Given the description of an element on the screen output the (x, y) to click on. 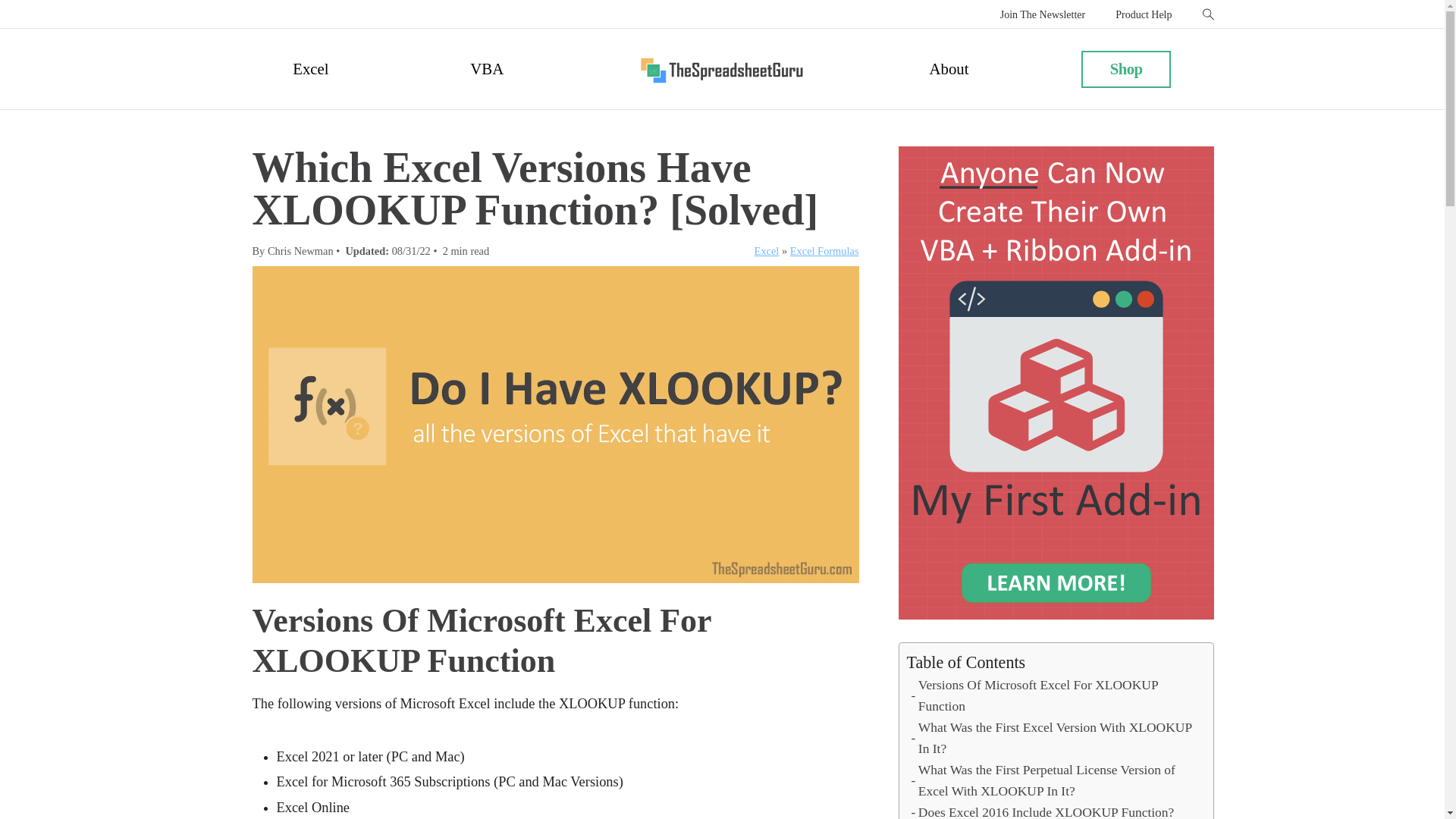
Product Help (1143, 14)
Excel (310, 67)
Join The Newsletter (1043, 14)
Versions Of Microsoft Excel For XLOOKUP Function (1054, 695)
What Was the First Excel Version With XLOOKUP In It? (1054, 738)
Shop (1126, 68)
Does Excel 2016 Include XLOOKUP Function? (1042, 810)
Versions Of Microsoft Excel For XLOOKUP Function (1054, 695)
Excel (766, 250)
